Given the description of an element on the screen output the (x, y) to click on. 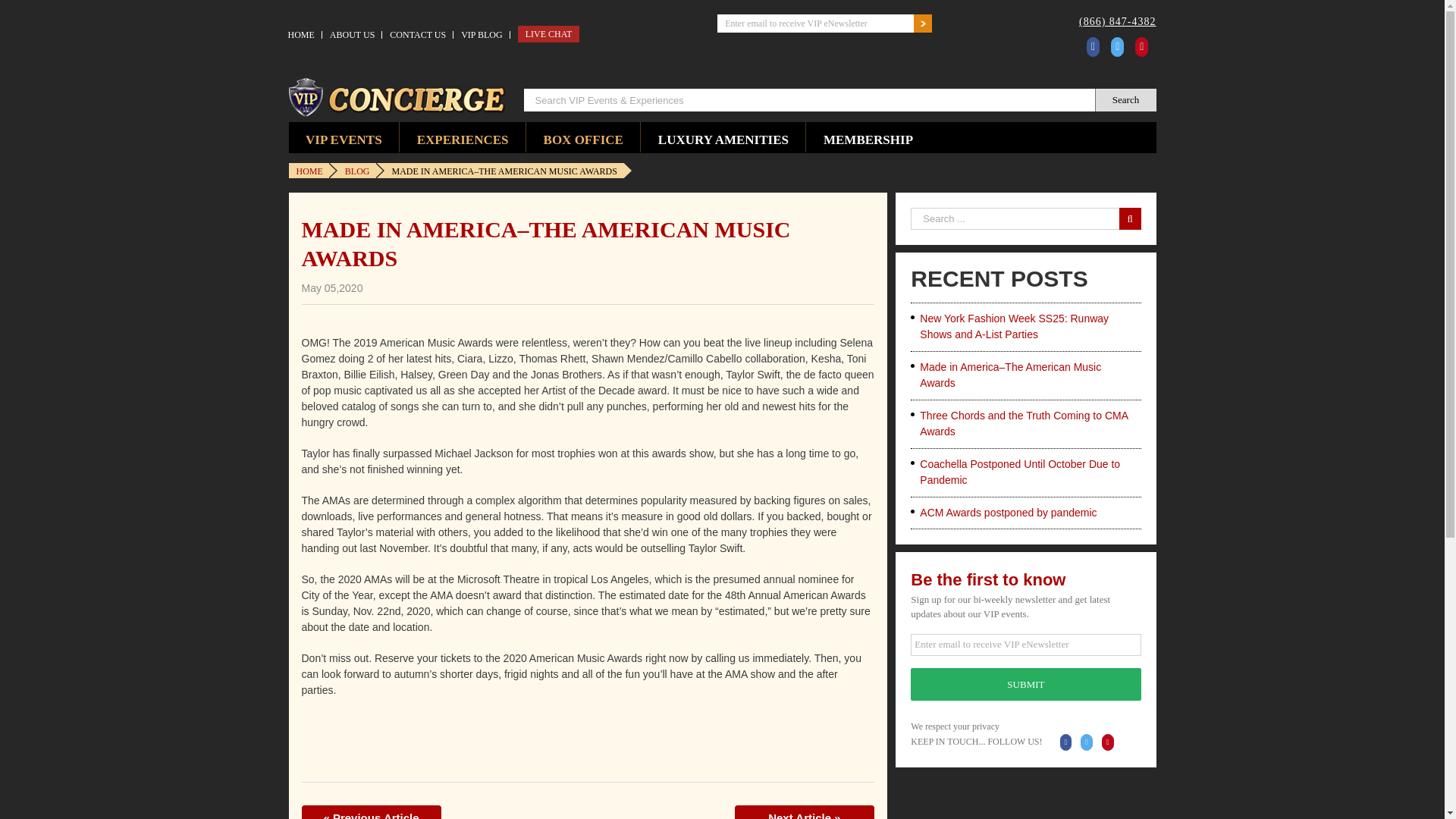
VIP BLOG (481, 34)
Search (1125, 99)
LUXURY AMENITIES (722, 137)
VIP EVENTS (343, 137)
BOX OFFICE (582, 137)
CONTACT US (417, 34)
Search (1125, 99)
LIVE CHAT (548, 33)
ABOUT US (352, 34)
MEMBERSHIP (868, 137)
Submit (1025, 683)
EXPERIENCES (461, 137)
Search (1125, 99)
HOME (301, 34)
